Given the description of an element on the screen output the (x, y) to click on. 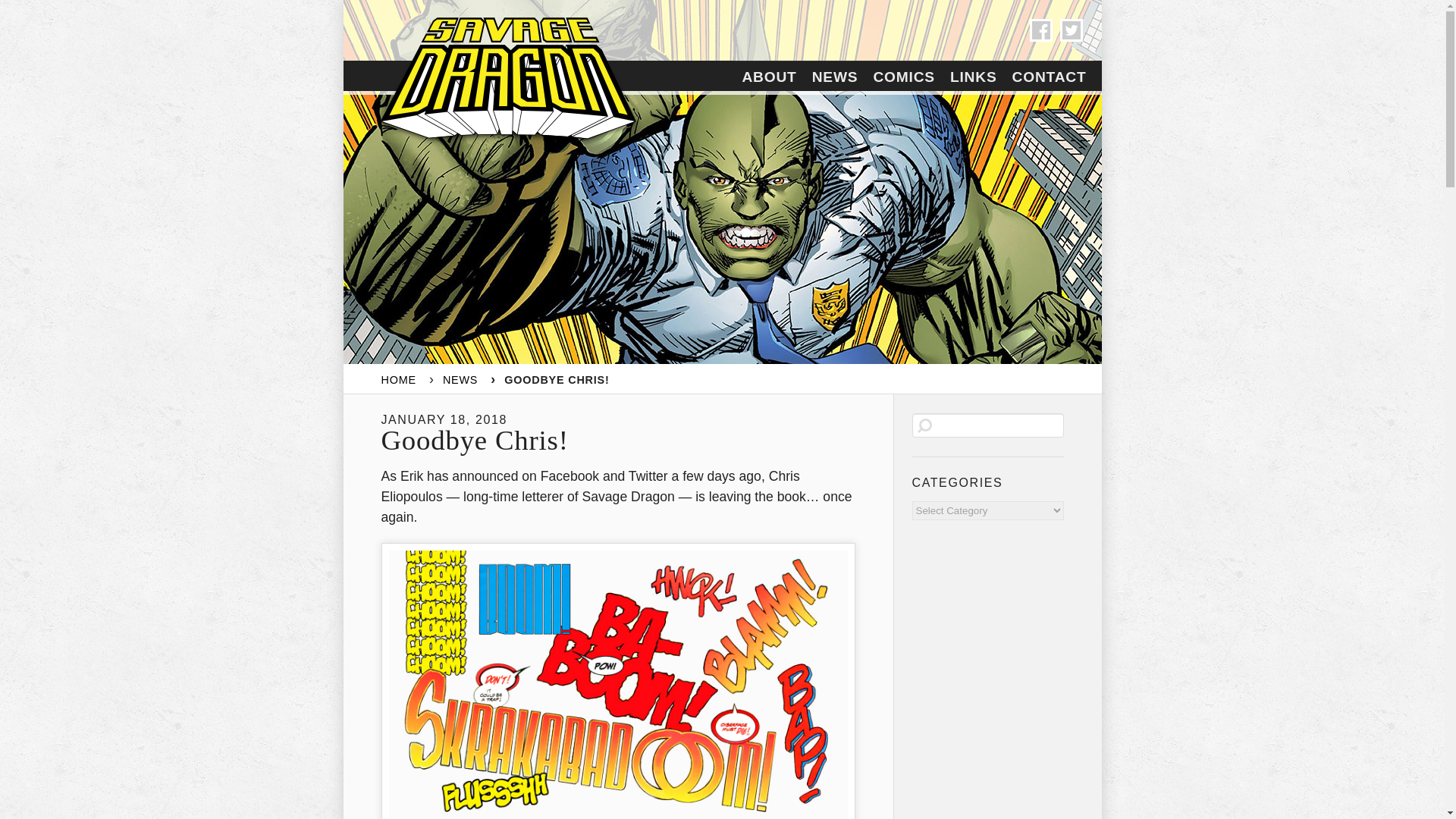
HOME (397, 378)
NEWS (459, 378)
Go to the News category archives (459, 378)
Search (16, 5)
Go to Home (397, 378)
